Given the description of an element on the screen output the (x, y) to click on. 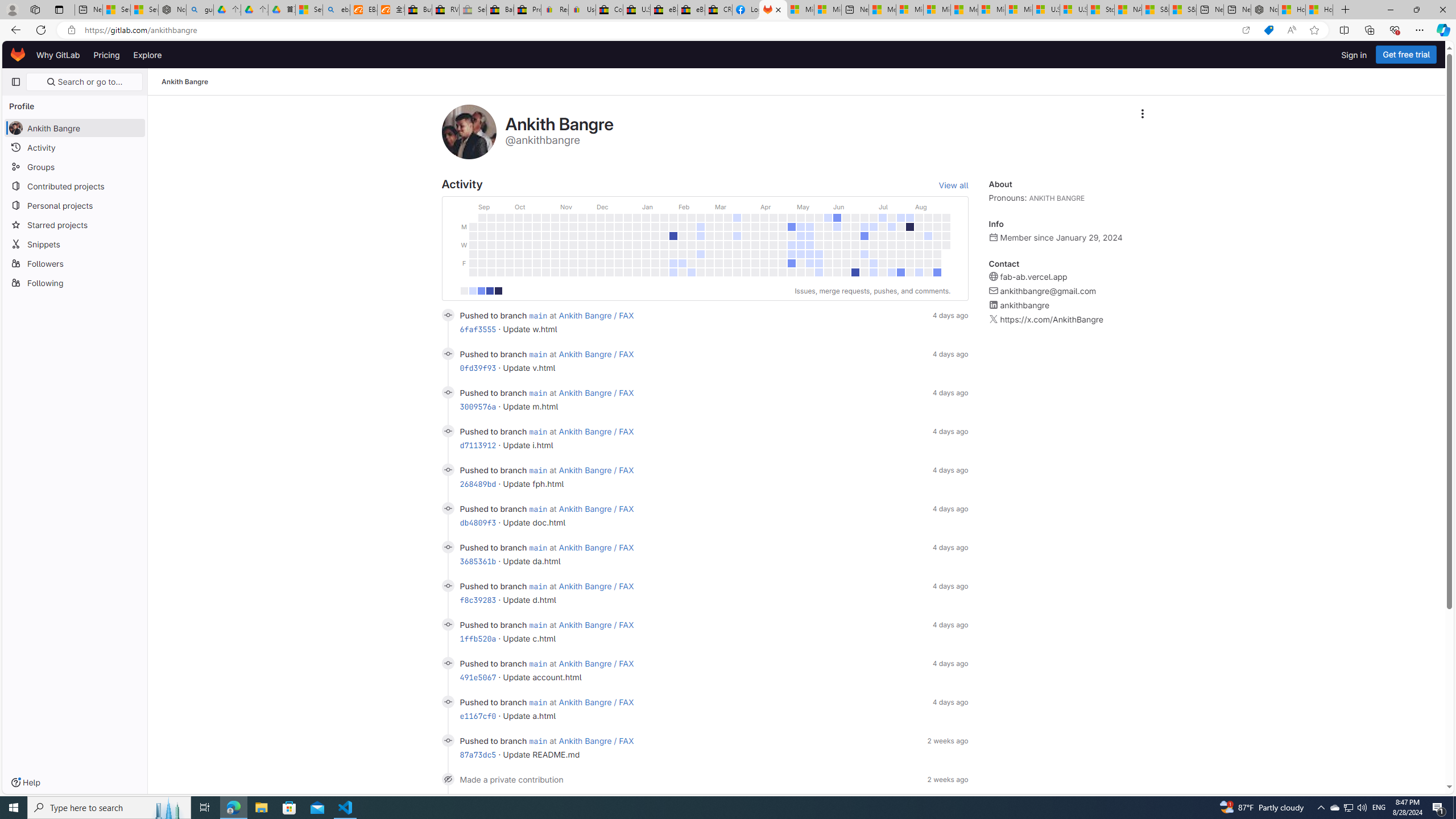
e1167cf0 (478, 715)
20-29 contributions (489, 290)
